Given the description of an element on the screen output the (x, y) to click on. 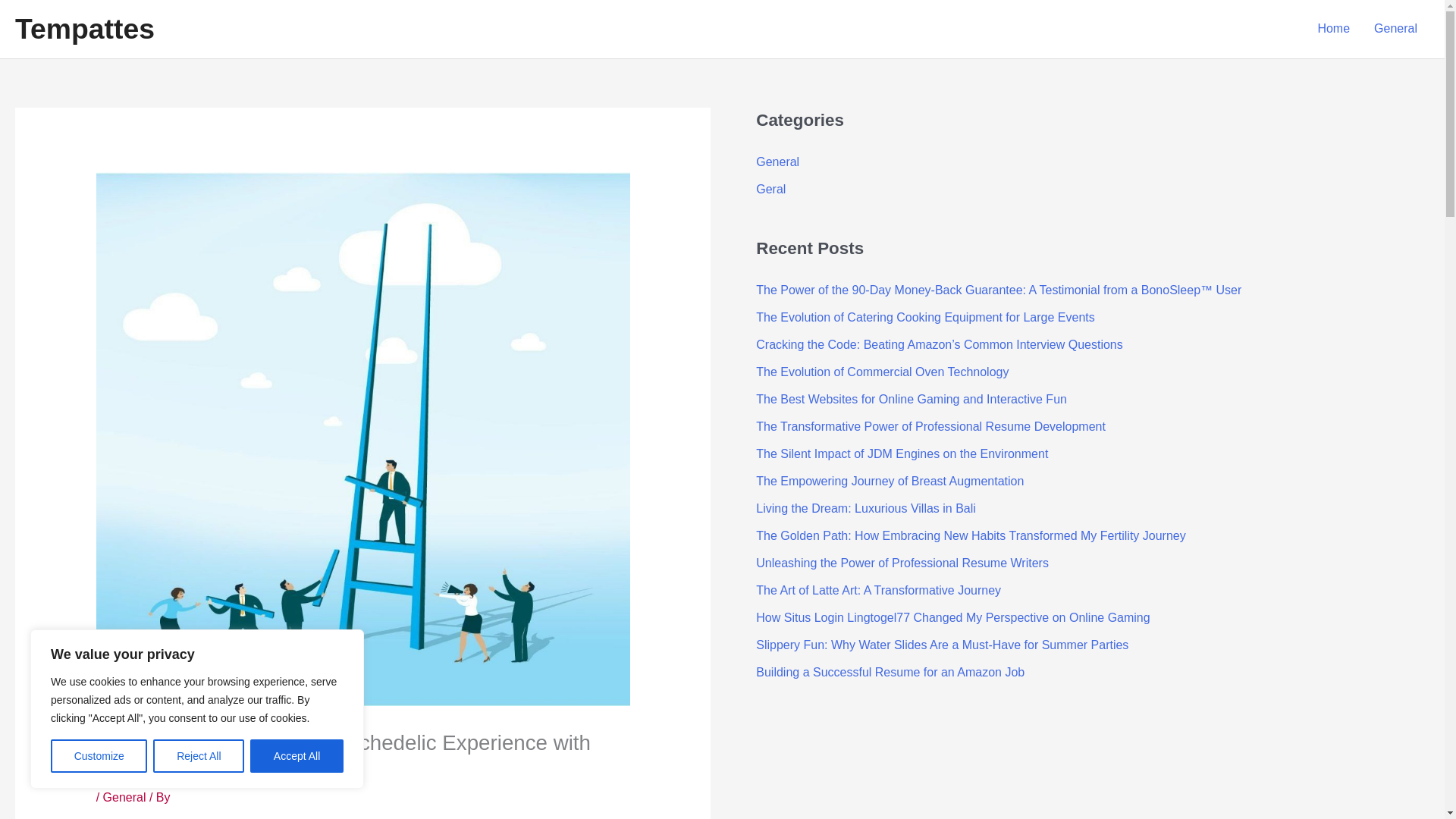
Accept All (296, 756)
Customize (98, 756)
Tempattes (84, 29)
Geral (770, 188)
General (777, 161)
General (125, 797)
General (1395, 28)
The Evolution of Catering Cooking Equipment for Large Events (924, 317)
Home (1332, 28)
Reject All (198, 756)
